Given the description of an element on the screen output the (x, y) to click on. 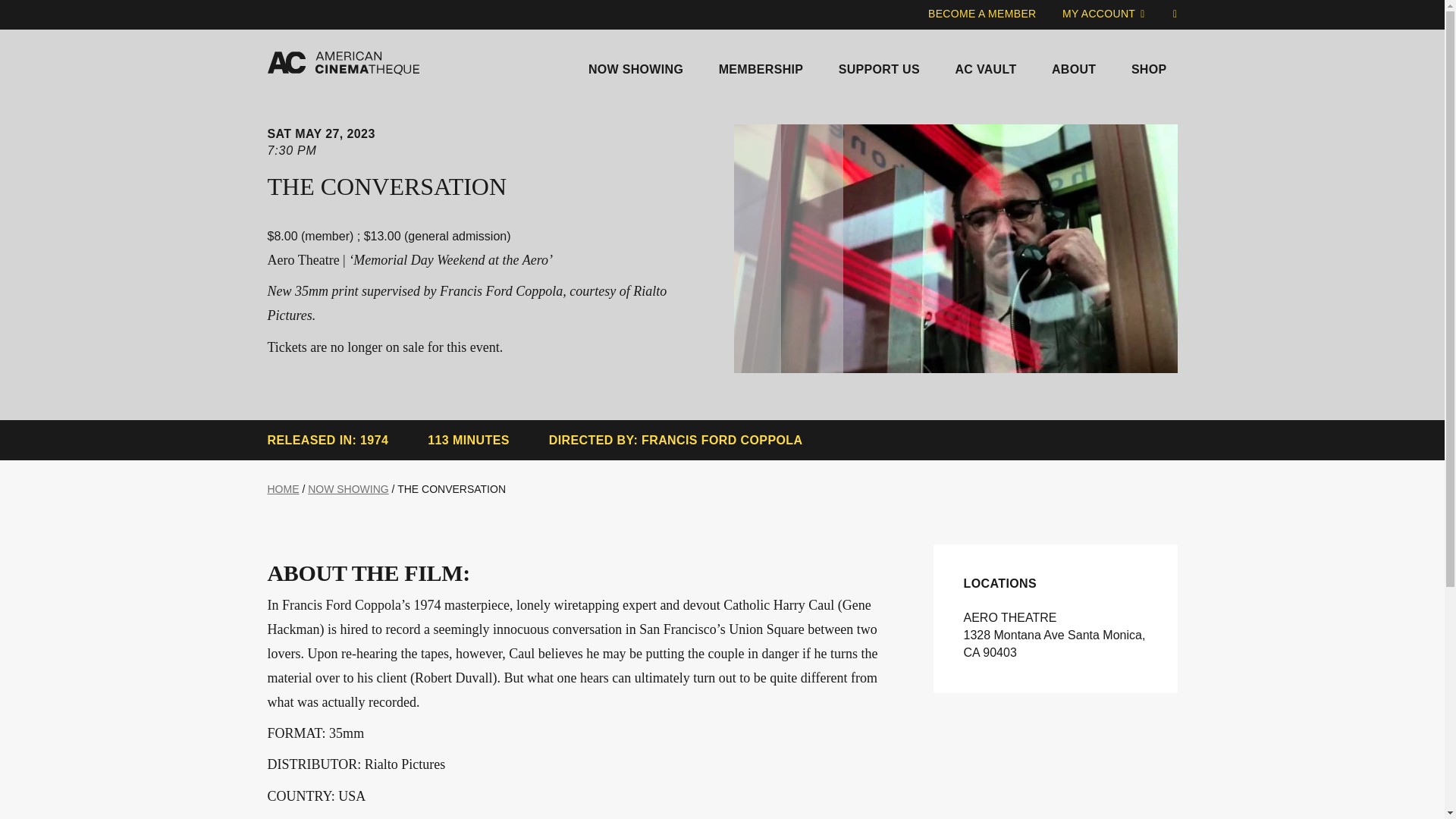
NOW SHOWING (636, 65)
AC VAULT (984, 65)
SUPPORT US (879, 65)
BECOME A MEMBER (982, 14)
MEMBERSHIP (760, 65)
ABOUT (1073, 65)
MY ACCOUNT (1103, 14)
American Cinematheque (342, 63)
Members Area Login (1103, 14)
Stay tuned for 40th Anniversary announcements! (722, 26)
